Given the description of an element on the screen output the (x, y) to click on. 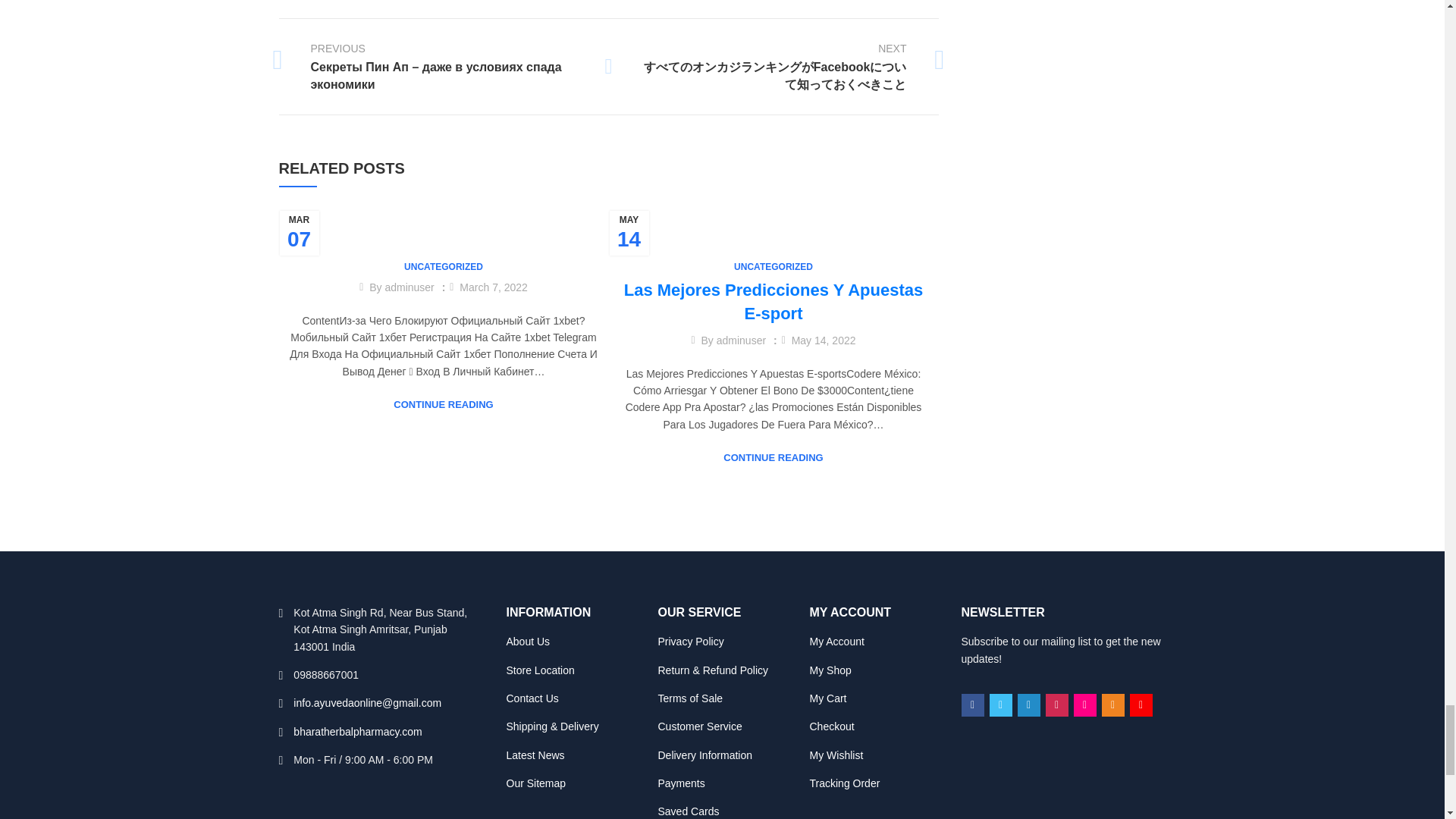
Posts by adminuser (740, 340)
Posts by adminuser (408, 287)
adminuser (408, 287)
UNCATEGORIZED (443, 266)
